Given the description of an element on the screen output the (x, y) to click on. 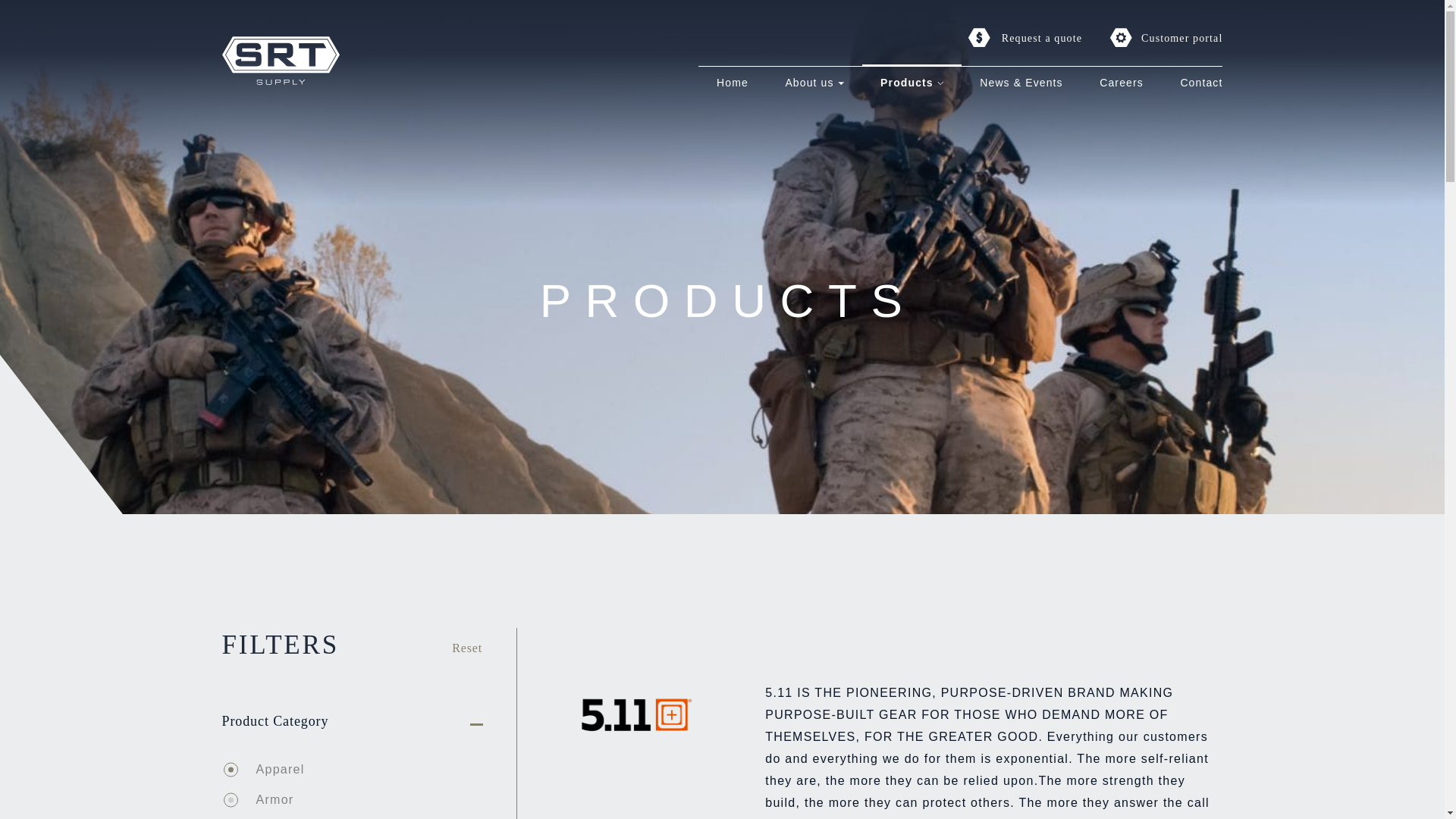
Request a quote (1024, 37)
Home (732, 82)
Customer portal (1166, 37)
Products (906, 82)
Contact (1201, 82)
About us (808, 82)
Careers (1120, 82)
